Given the description of an element on the screen output the (x, y) to click on. 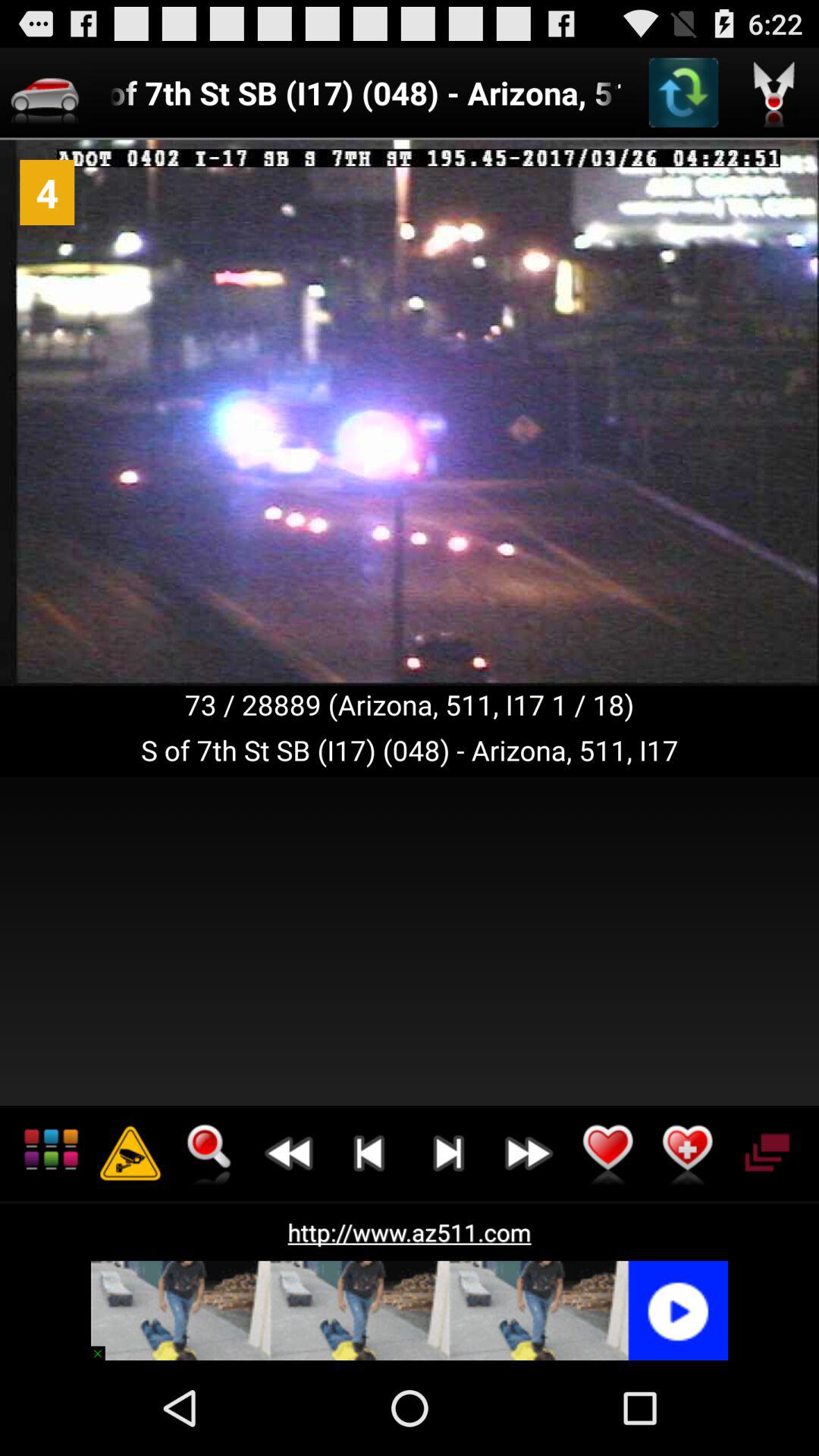
refresh camera view (683, 92)
